Given the description of an element on the screen output the (x, y) to click on. 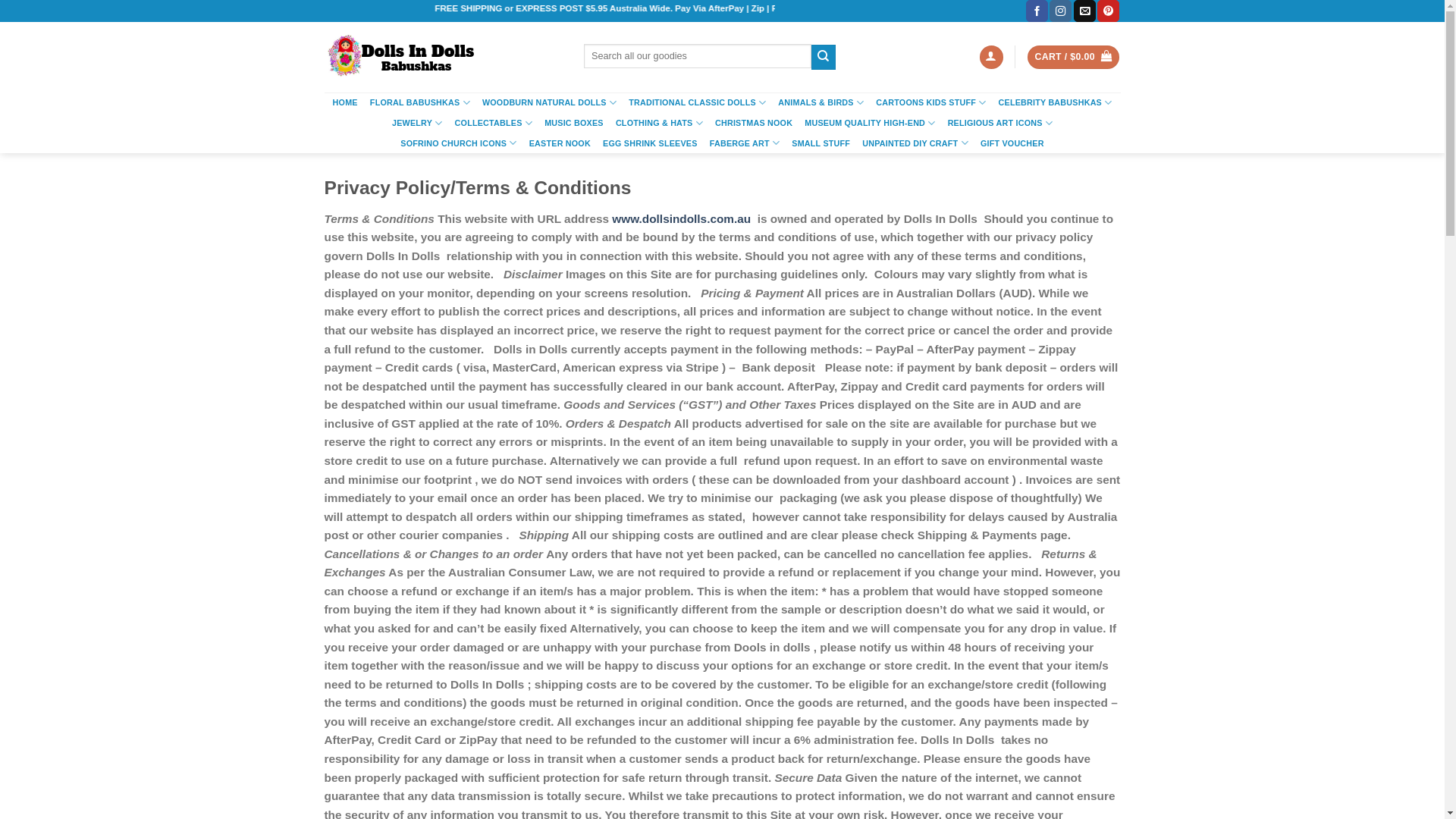
www.dollsindolls.com.au Element type: text (680, 218)
JEWELRY Element type: text (416, 122)
HOME Element type: text (345, 102)
ANIMALS & BIRDS Element type: text (820, 102)
Follow on Facebook Element type: hover (1037, 10)
FABERGE ART Element type: text (744, 143)
GIFT VOUCHER Element type: text (1012, 143)
COLLECTABLES Element type: text (493, 122)
Send us an email Element type: hover (1084, 10)
CHRISTMAS NOOK Element type: text (753, 122)
WOODBURN NATURAL DOLLS Element type: text (549, 102)
Follow on Pinterest Element type: hover (1108, 10)
TRADITIONAL CLASSIC DOLLS Element type: text (696, 102)
MUSIC BOXES Element type: text (573, 122)
Follow on Instagram Element type: hover (1060, 10)
MUSEUM QUALITY HIGH-END Element type: text (869, 122)
UNPAINTED DIY CRAFT Element type: text (915, 143)
EASTER NOOK Element type: text (559, 143)
SMALL STUFF Element type: text (820, 143)
RELIGIOUS ART ICONS Element type: text (999, 122)
CELEBRITY BABUSHKAS Element type: text (1054, 102)
SOFRINO CHURCH ICONS Element type: text (458, 143)
EGG SHRINK SLEEVES Element type: text (649, 143)
Search Element type: text (823, 56)
CLOTHING & HATS Element type: text (659, 122)
FLORAL BABUSHKAS Element type: text (420, 102)
CART / $0.00 Element type: text (1073, 57)
CARTOONS KIDS STUFF Element type: text (930, 102)
